Given the description of an element on the screen output the (x, y) to click on. 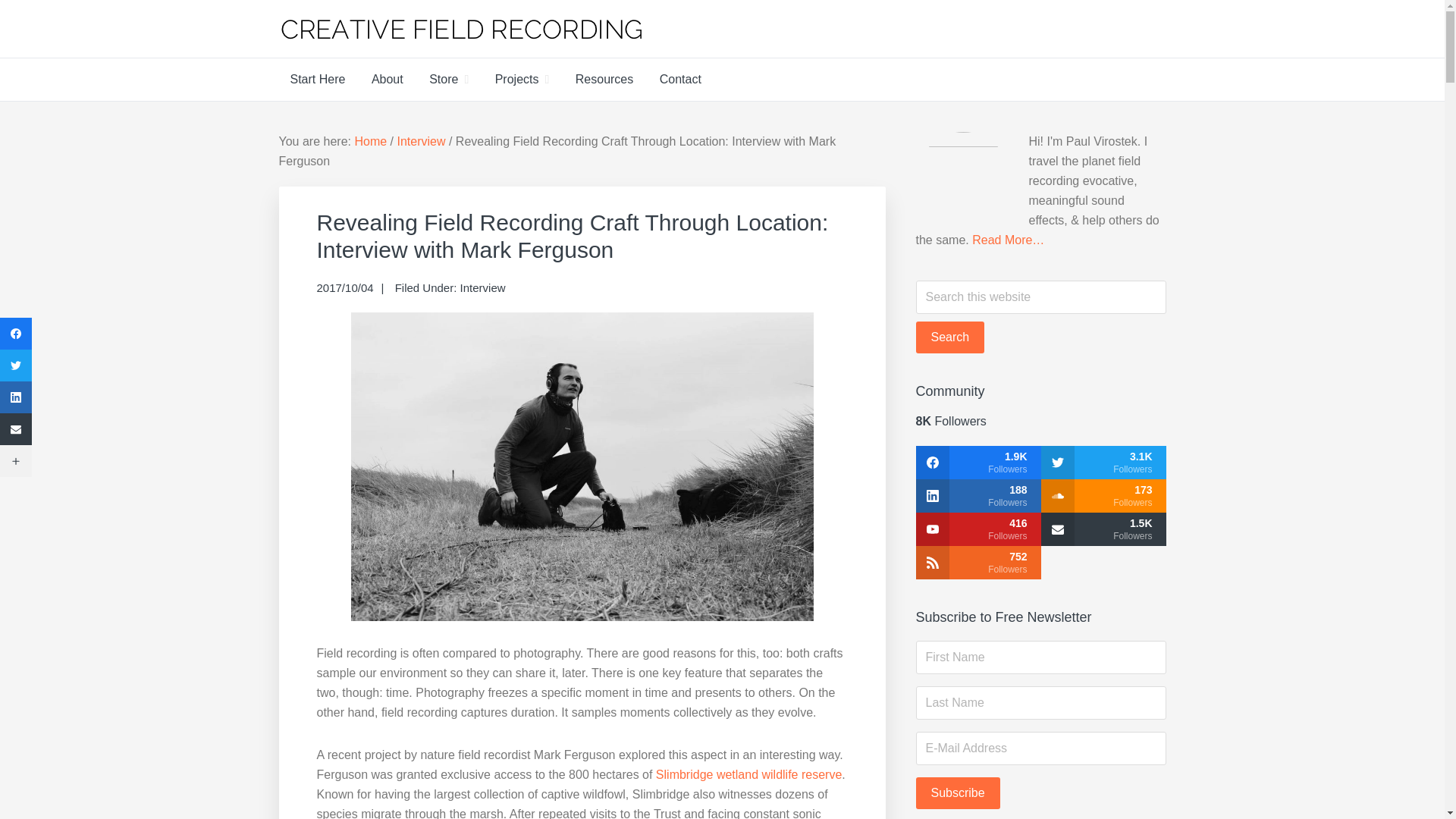
Search (950, 336)
Search (950, 336)
Interview (482, 287)
Projects (521, 79)
Start Here (317, 79)
CREATIVE FIELD RECORDING (497, 64)
Contact (680, 79)
Slimbridge wetland wildlife reserve (748, 774)
Home (370, 141)
Subscribe (957, 793)
Store (448, 79)
Resources (604, 79)
About (386, 79)
